Given the description of an element on the screen output the (x, y) to click on. 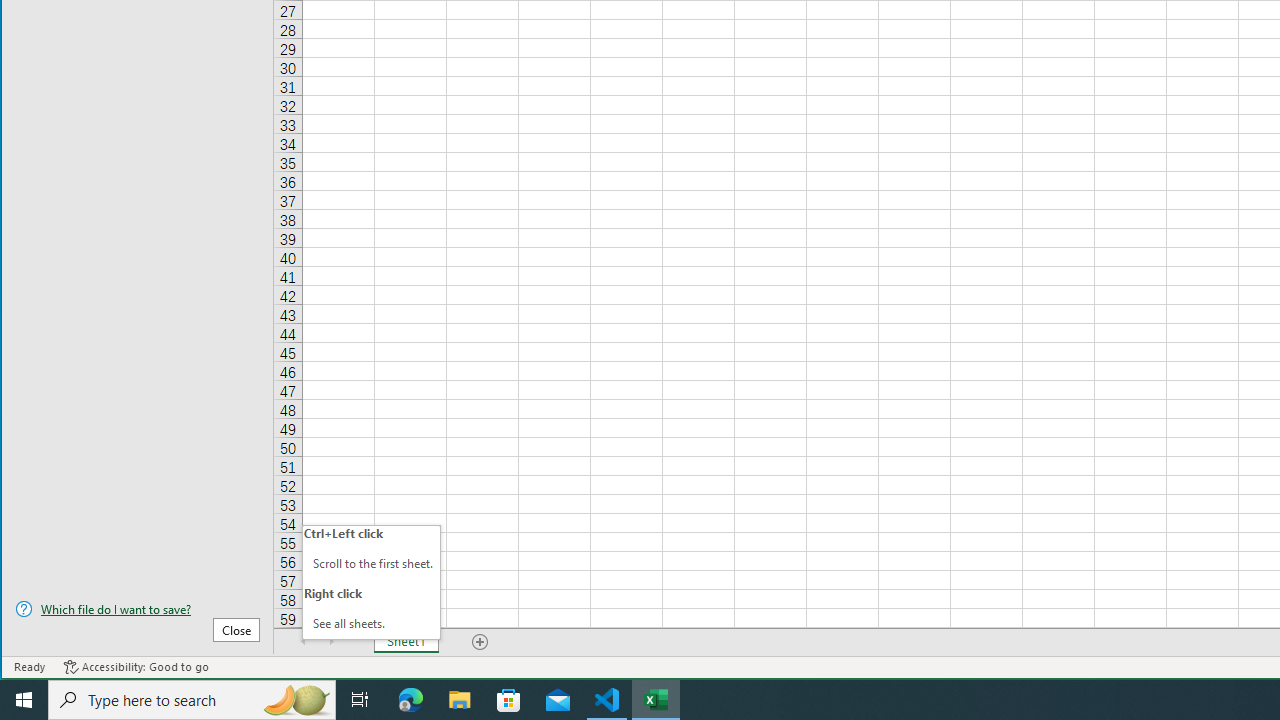
File Explorer (460, 699)
Close (235, 629)
